Given the description of an element on the screen output the (x, y) to click on. 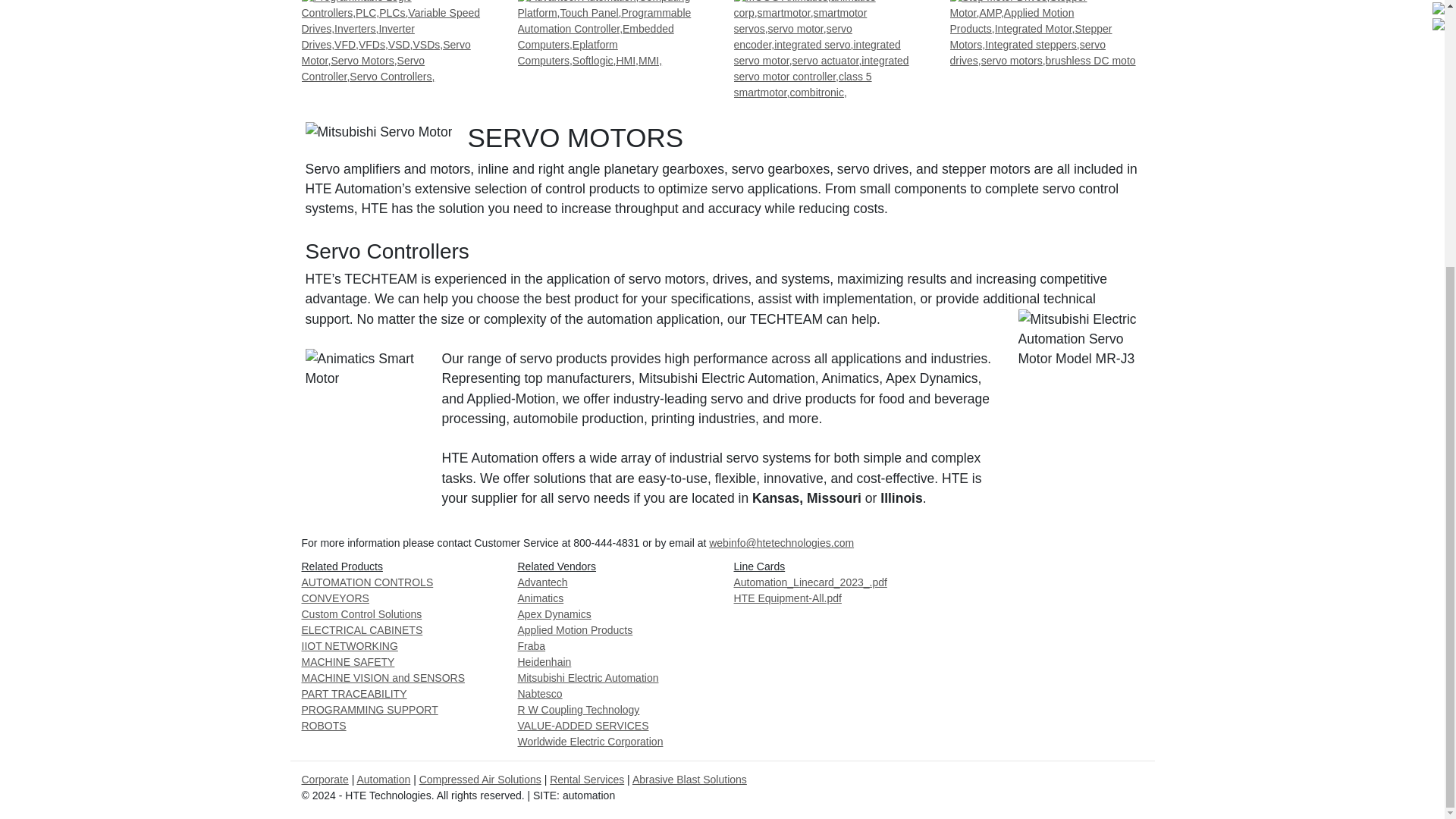
Industrial Computers (613, 33)
Servo Motors (830, 49)
Factory Automation Solutions (398, 42)
Servo Controls (1045, 33)
